Given the description of an element on the screen output the (x, y) to click on. 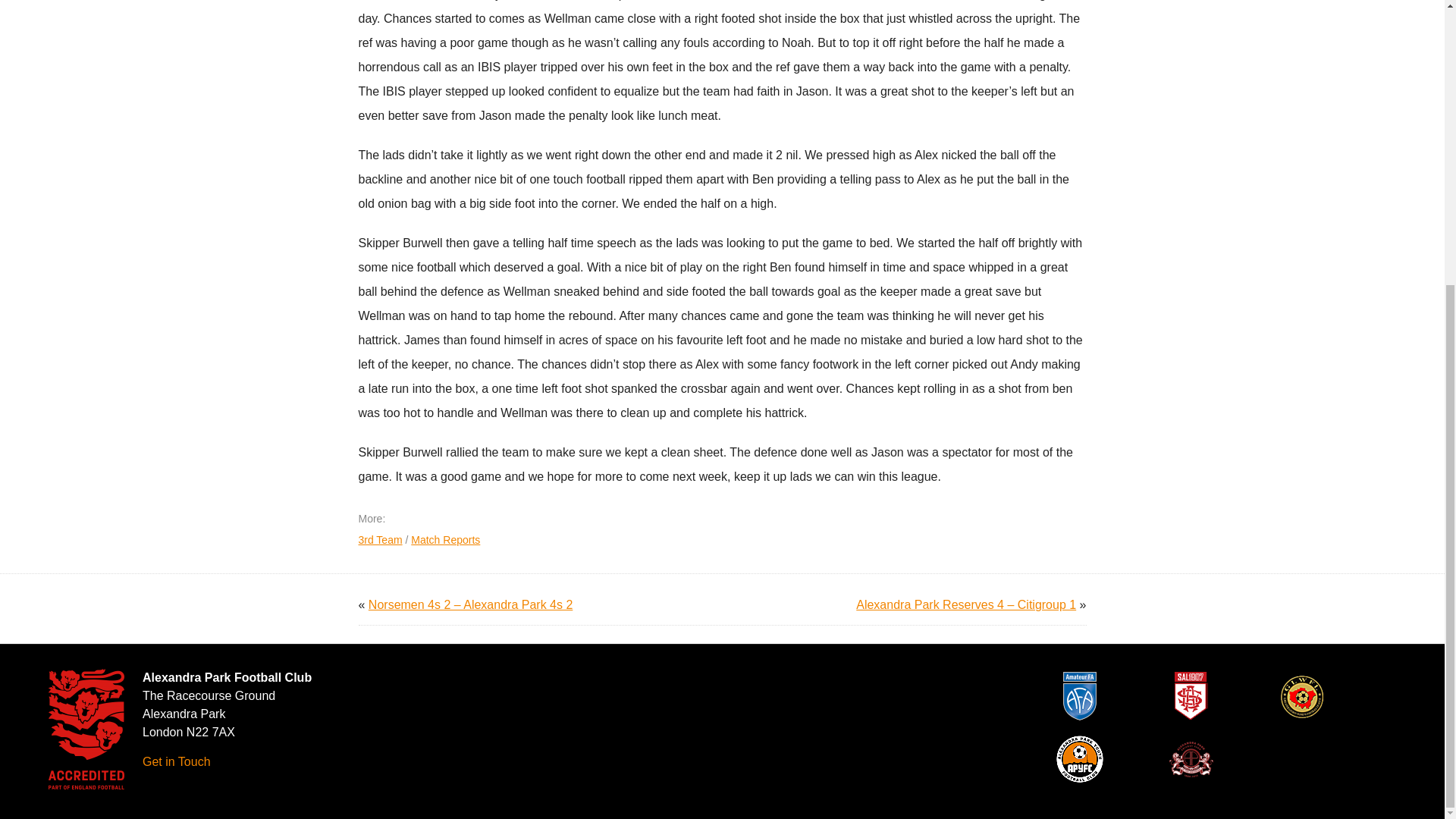
Match Reports (445, 539)
Get in Touch (176, 761)
3rd Team (379, 539)
